Given the description of an element on the screen output the (x, y) to click on. 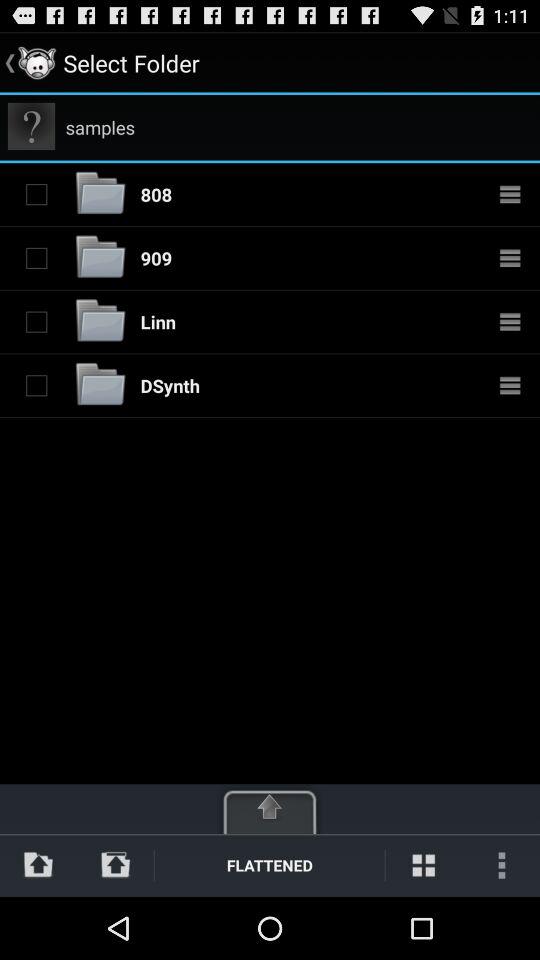
scroll until 909 icon (156, 257)
